Given the description of an element on the screen output the (x, y) to click on. 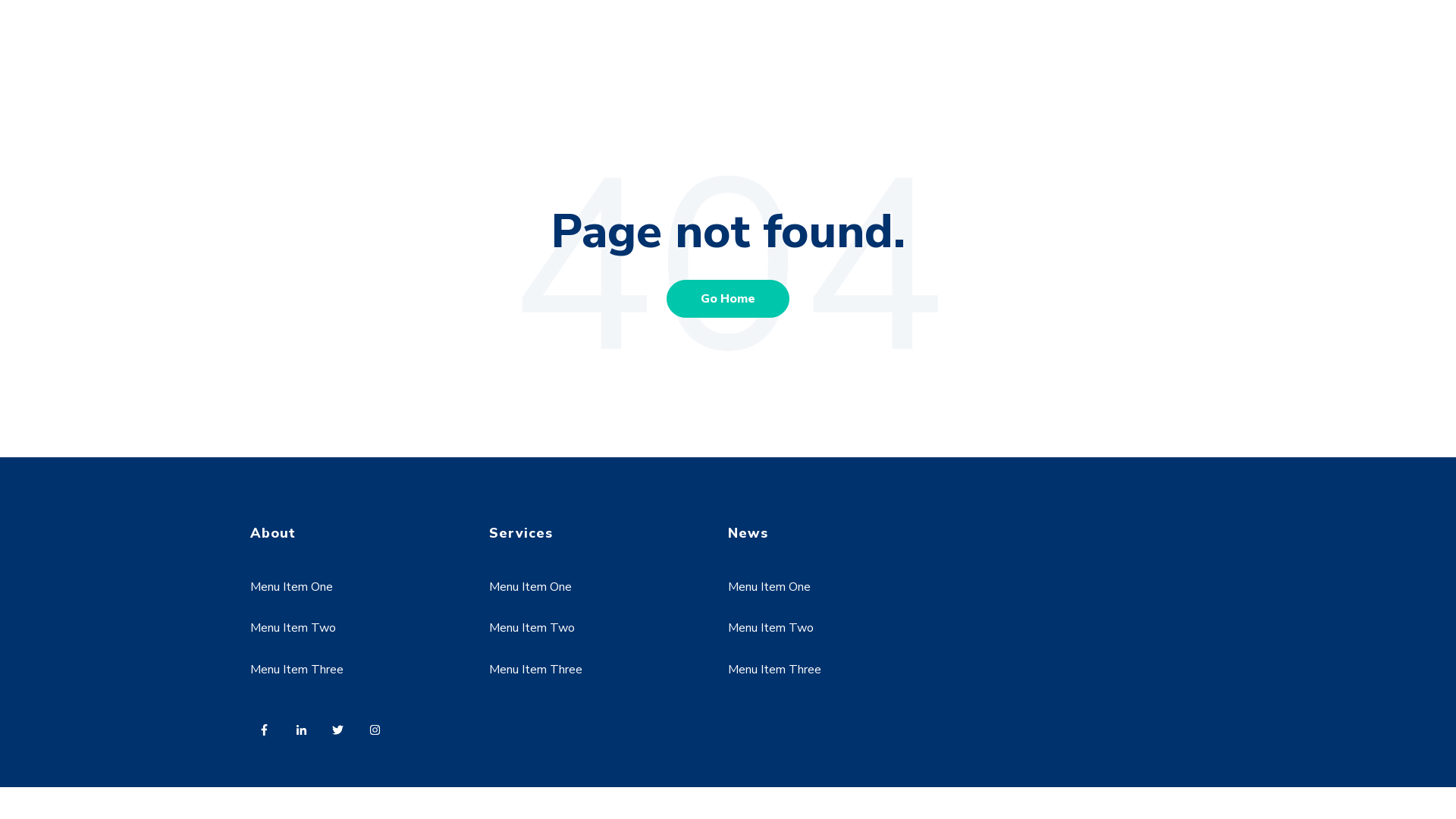
Follow us on Facebook Element type: text (268, 733)
Menu Item Two Element type: text (770, 627)
Go Home Element type: text (727, 297)
Menu Item One Element type: text (291, 586)
Follow us on Twitter Element type: text (341, 733)
Menu Item Three Element type: text (296, 669)
Menu Item Two Element type: text (531, 627)
Follow us on Instagram Element type: text (379, 733)
Menu Item One Element type: text (530, 586)
Menu Item Three Element type: text (535, 669)
Menu Item One Element type: text (769, 586)
Menu Item Two Element type: text (292, 627)
Follow us on LinkedIn Element type: text (305, 733)
Menu Item Three Element type: text (774, 669)
